Given the description of an element on the screen output the (x, y) to click on. 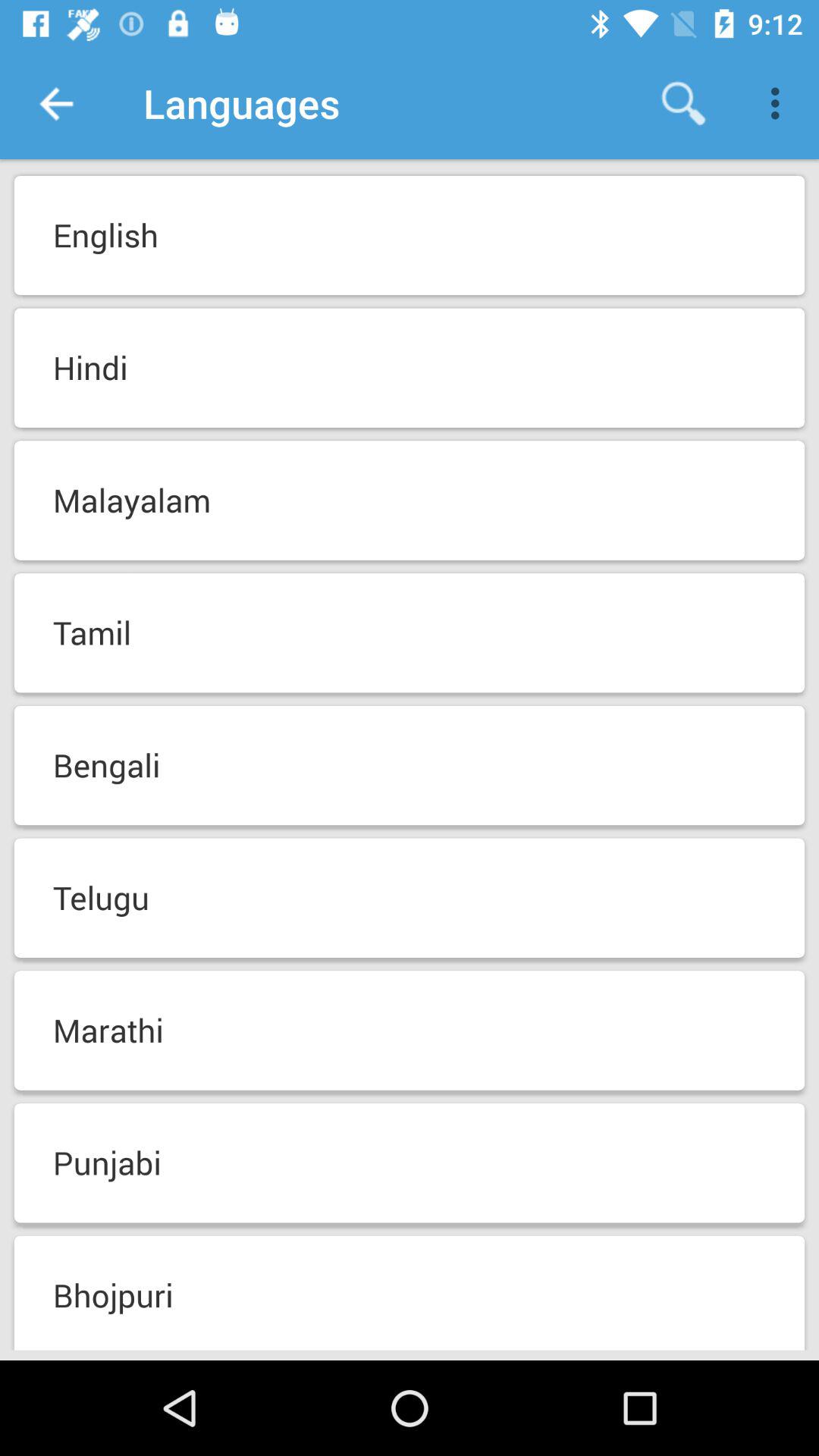
click icon above the english icon (779, 103)
